Given the description of an element on the screen output the (x, y) to click on. 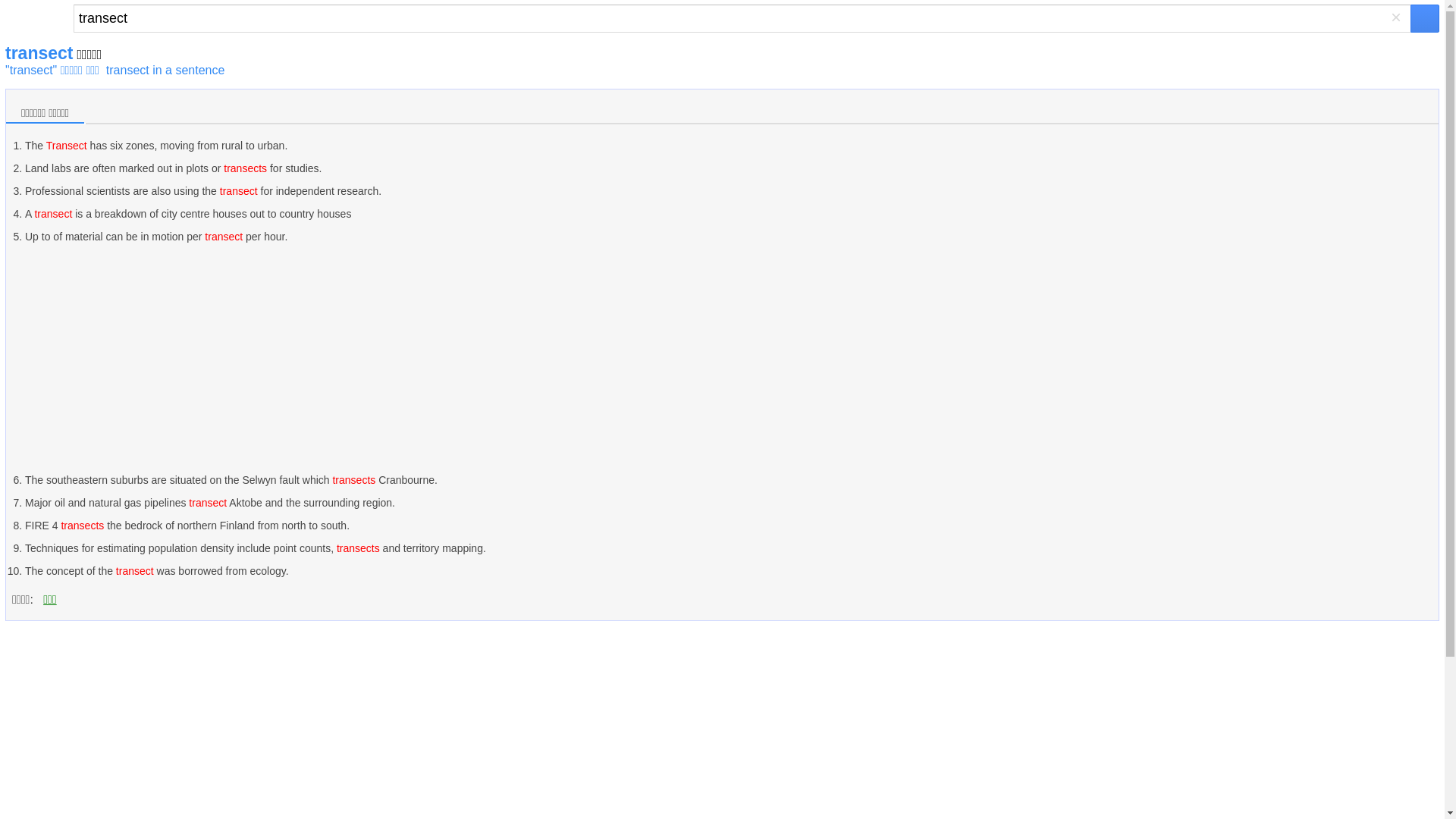
transect in a sentence (165, 69)
Search (742, 17)
transect (742, 17)
